Given the description of an element on the screen output the (x, y) to click on. 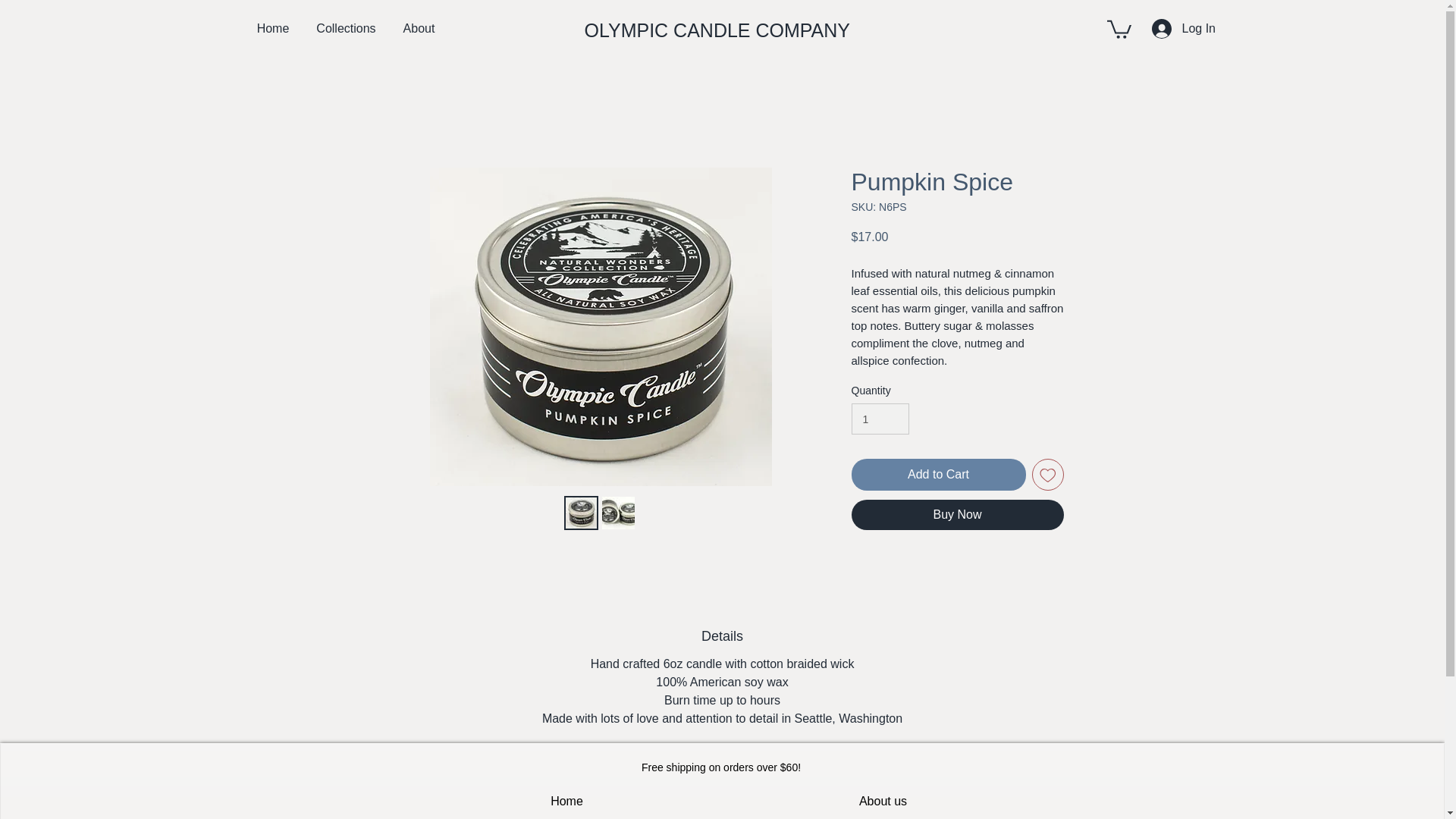
Shopping Cart (566, 816)
Add to Cart (937, 474)
Home (273, 28)
Log In (1169, 28)
Buy Now (956, 514)
Contact us (883, 816)
About us (883, 801)
OLYMPIC CANDLE COMPANY (721, 30)
Home (566, 801)
1 (879, 418)
